Given the description of an element on the screen output the (x, y) to click on. 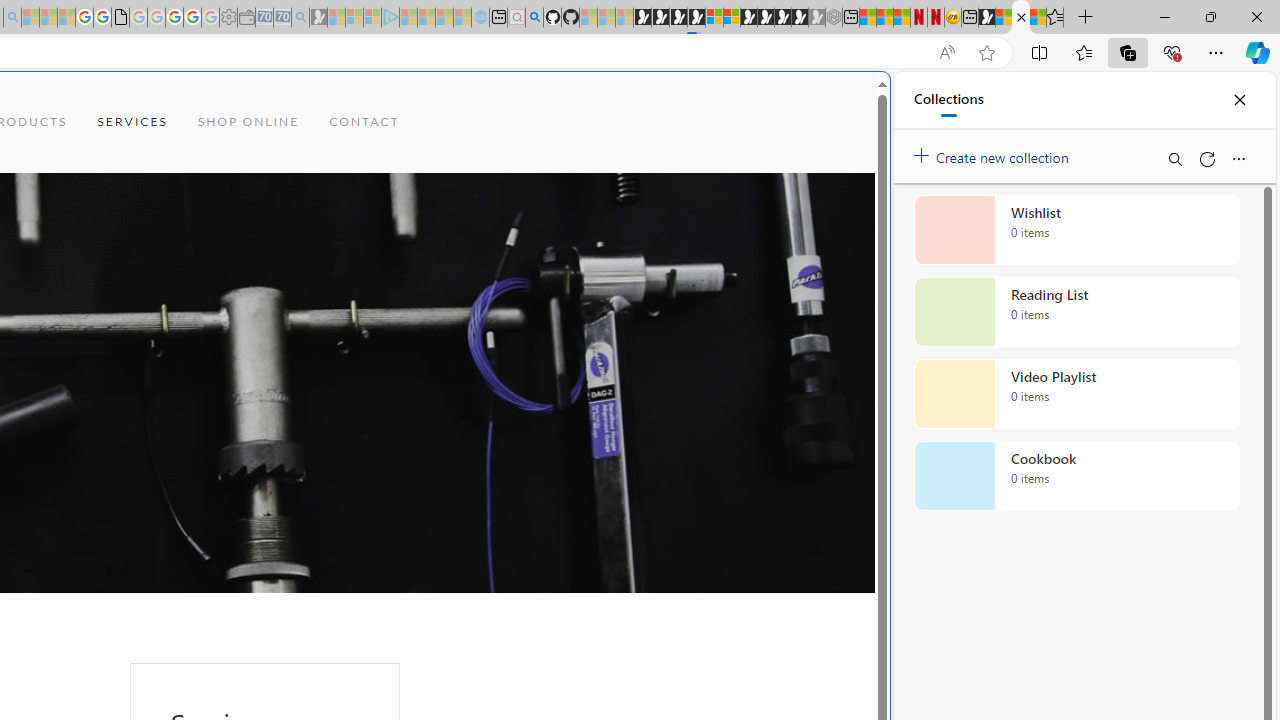
New Tab (1085, 17)
Home | Sky Blue Bikes - Sky Blue Bikes (687, 426)
Play Cave FRVR in your browser | Games from Microsoft Start (343, 426)
Play Cave FRVR in your browser | Games from Microsoft Start (678, 17)
Microsoft Start Gaming - Sleeping (317, 17)
Search (1174, 158)
SHOP ONLINE (247, 122)
github - Search (534, 17)
google_privacy_policy_zh-CN.pdf (120, 17)
Restore (1210, 16)
Create new collection (994, 153)
